Given the description of an element on the screen output the (x, y) to click on. 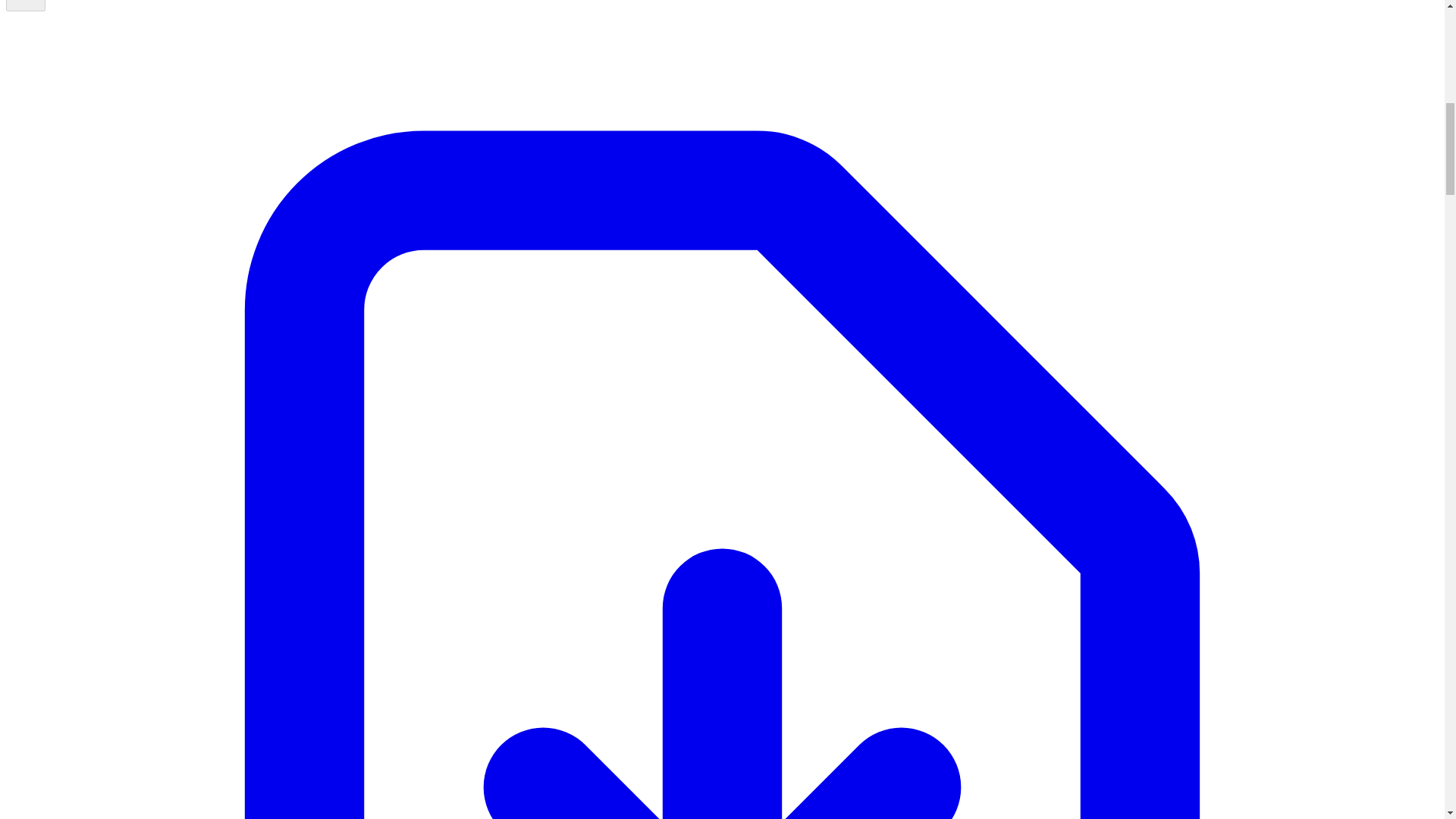
Share (25, 5)
